Given the description of an element on the screen output the (x, y) to click on. 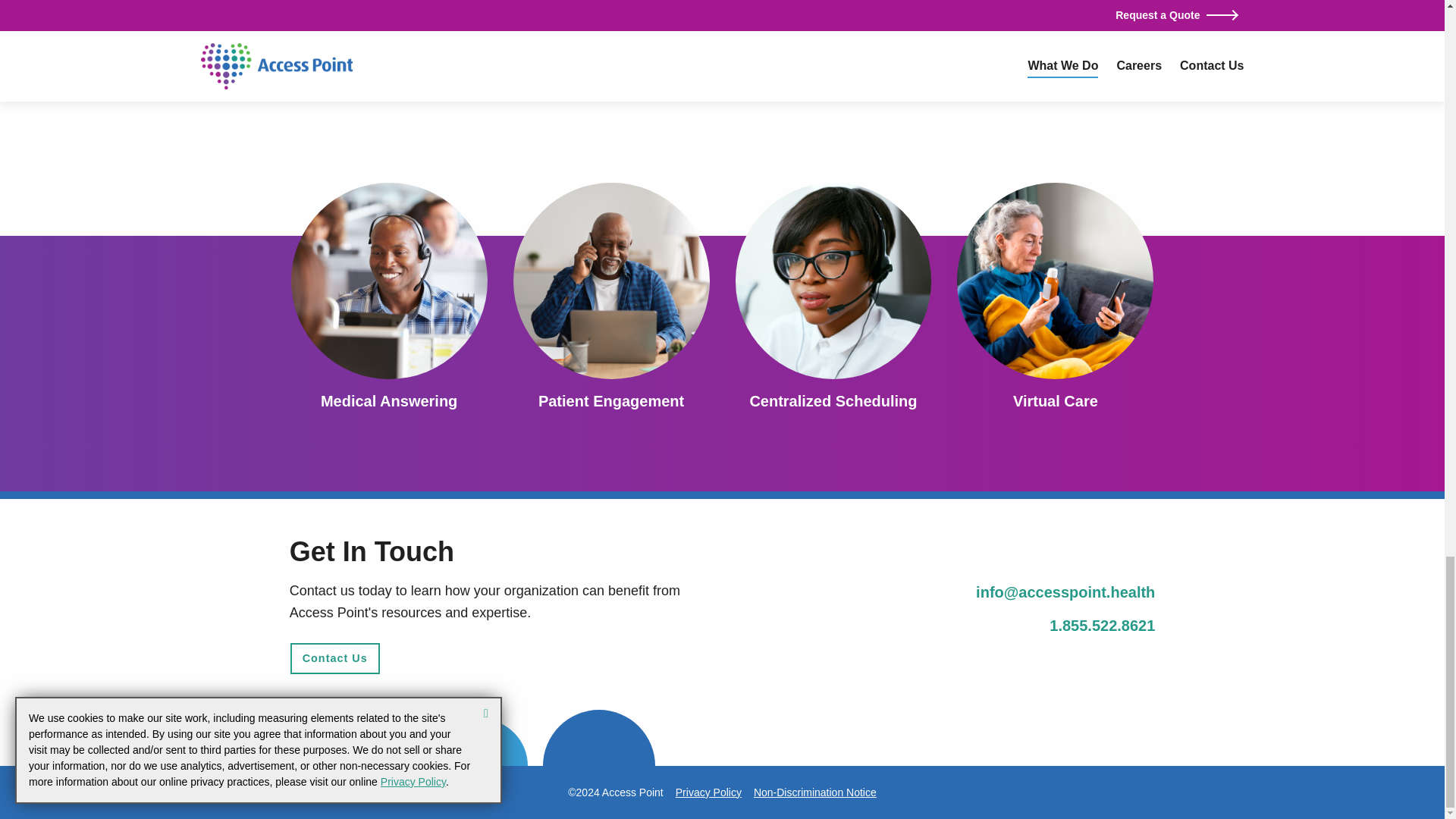
Non-Discrimination Notice (815, 792)
Centralized Scheduling (833, 401)
Medical Answering (388, 401)
Patient Engagement (611, 401)
Virtual Care (1055, 401)
Privacy Policy (708, 792)
1.855.522.8621 (1101, 625)
Contact Us (334, 658)
